Given the description of an element on the screen output the (x, y) to click on. 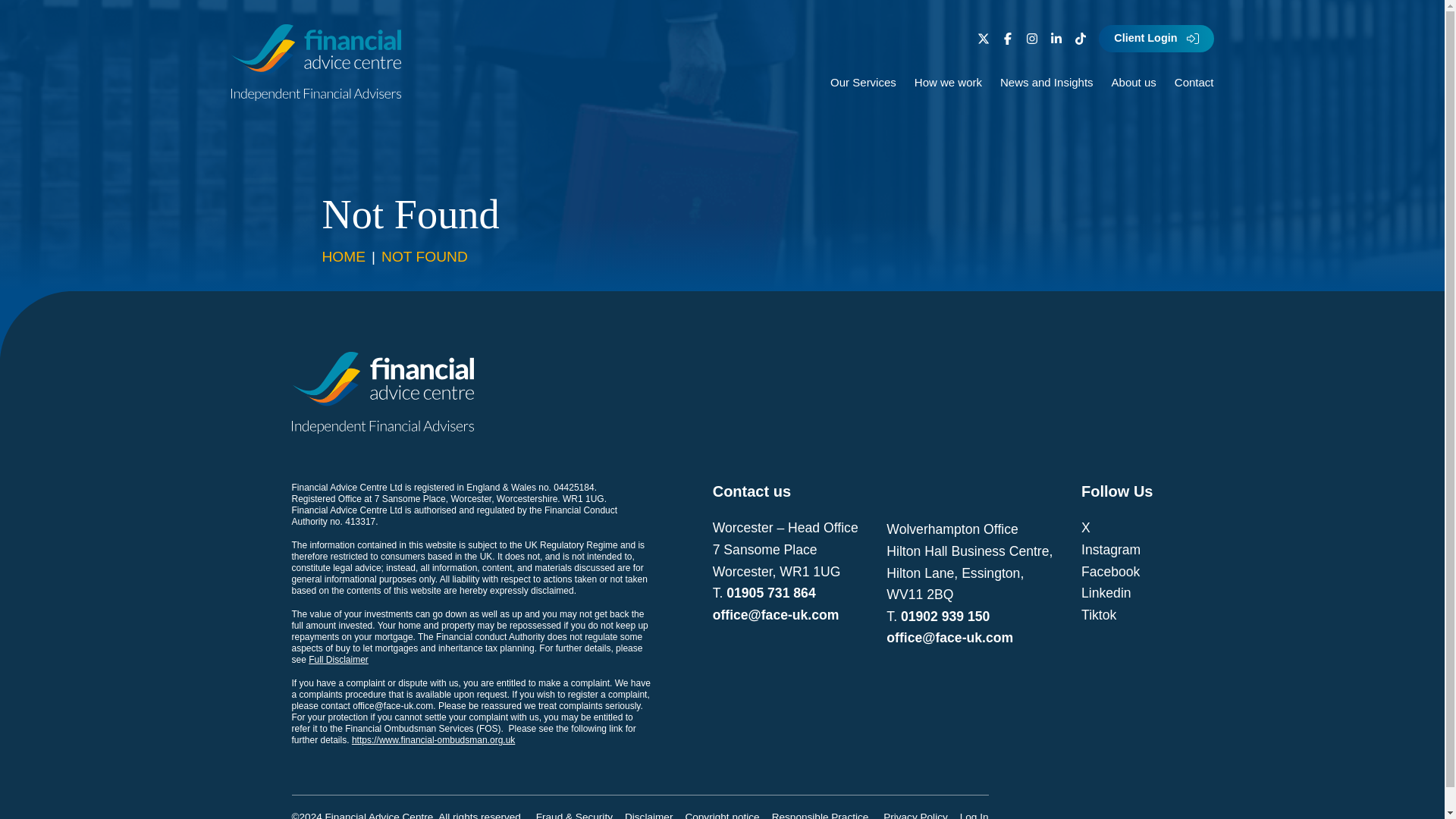
Contact (1194, 81)
Our Services (862, 81)
News and Insights (1046, 81)
Skip to content (30, 18)
Client Login (1155, 38)
How we work (947, 81)
About us (1134, 81)
